Given the description of an element on the screen output the (x, y) to click on. 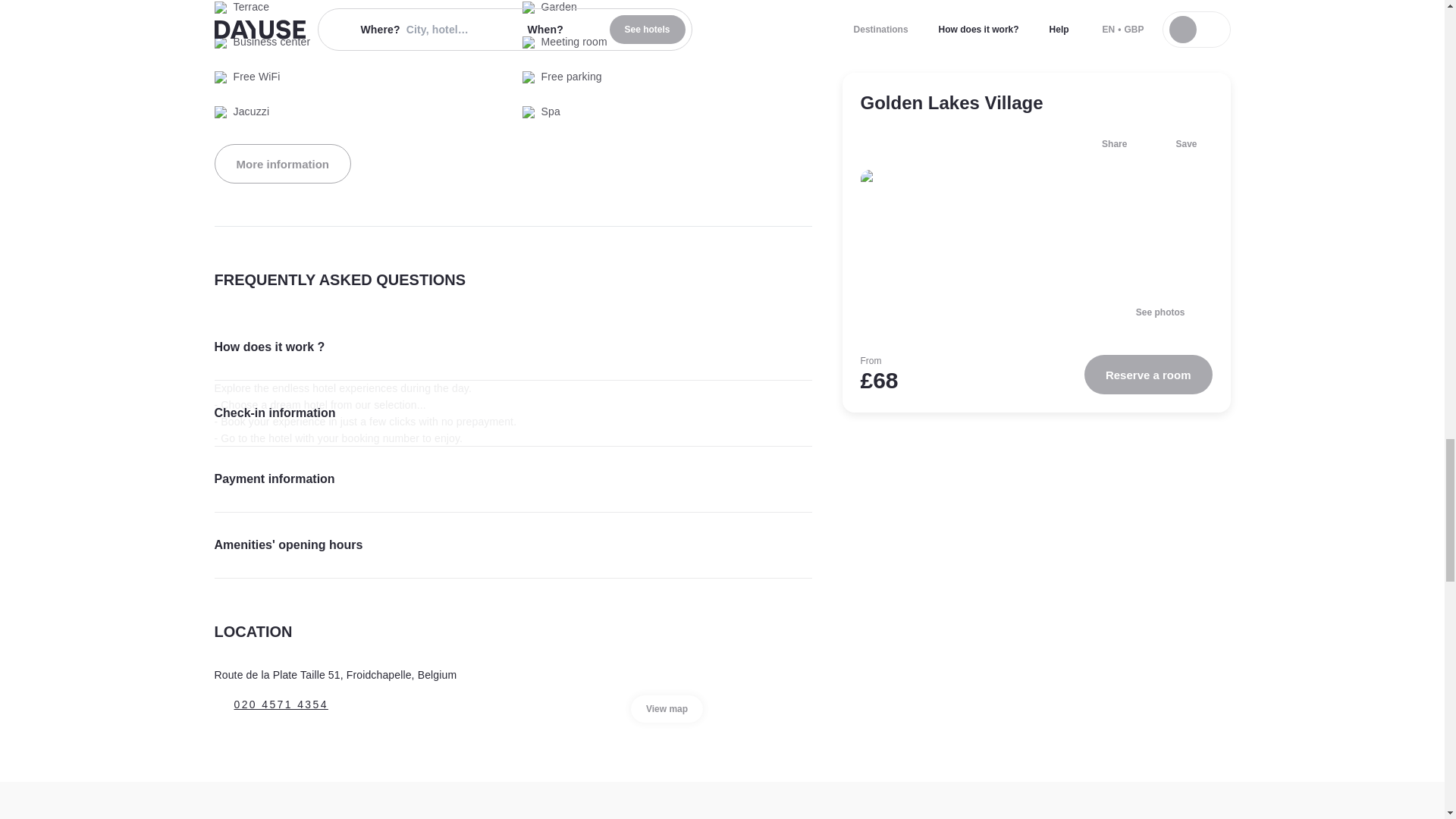
More information (282, 163)
